Given the description of an element on the screen output the (x, y) to click on. 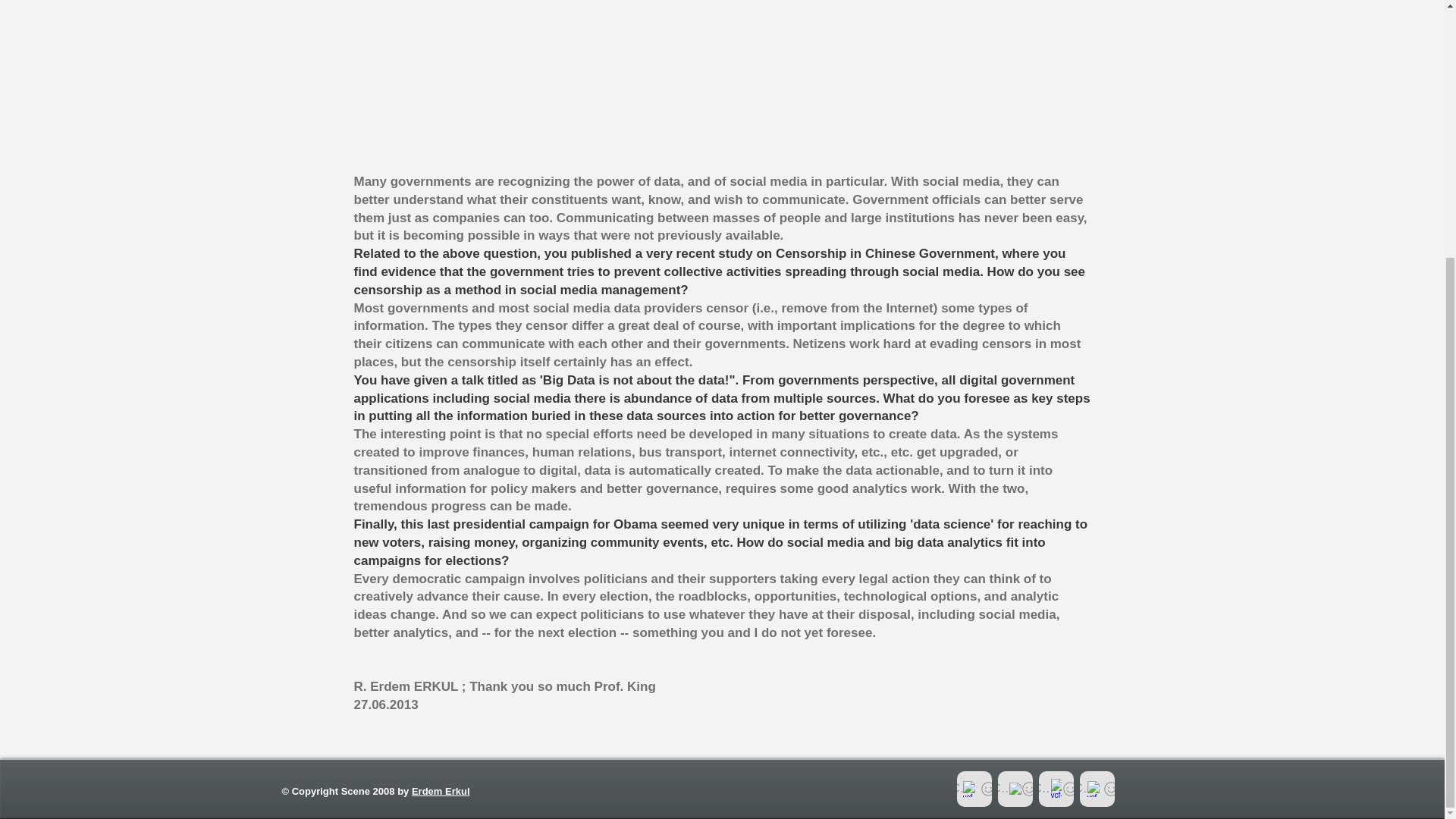
Call Us (973, 788)
Call Us (1097, 788)
Call Us (1056, 788)
Erdem Erkul (441, 790)
Call Us (1014, 788)
